Given the description of an element on the screen output the (x, y) to click on. 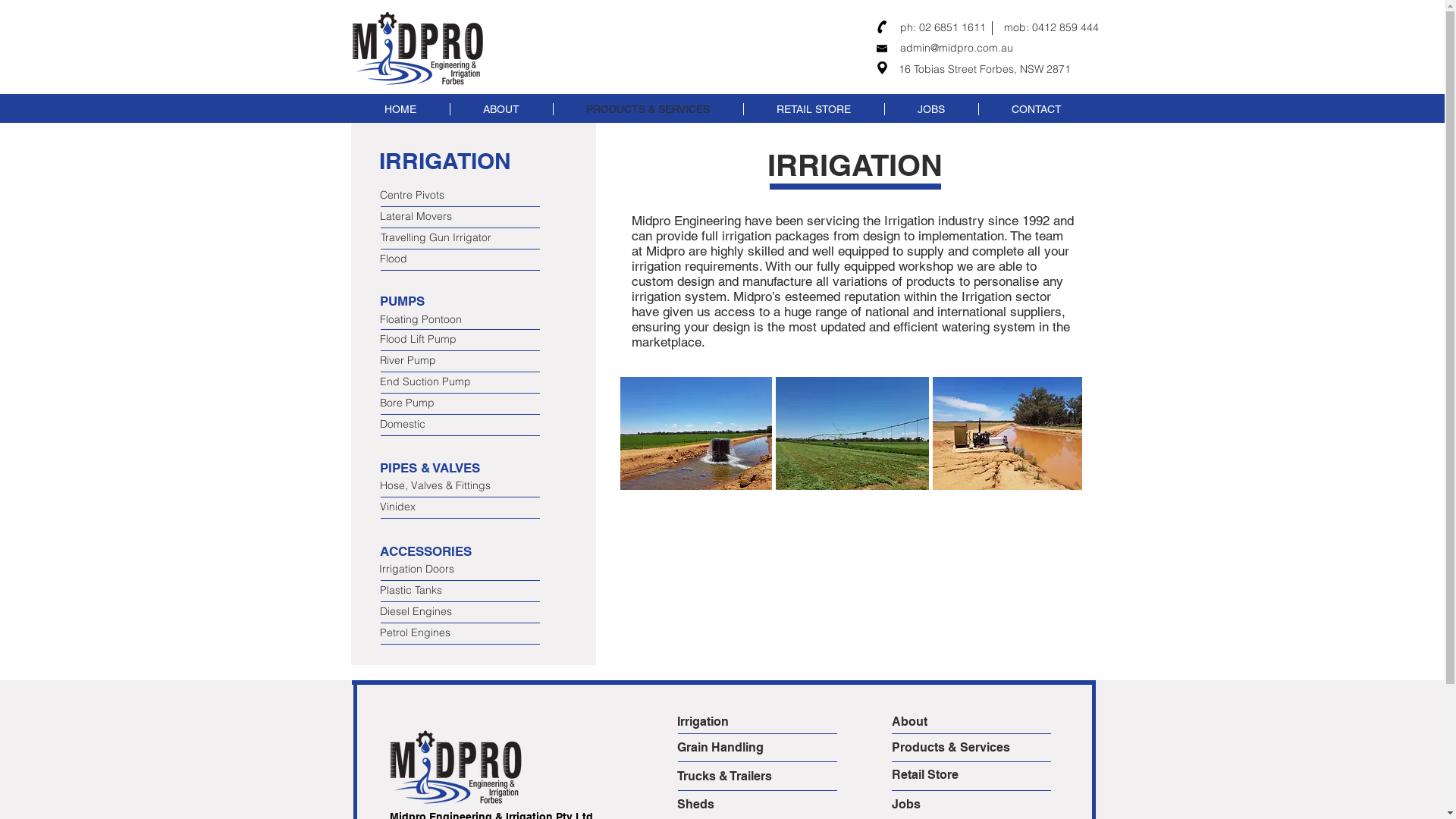
Plastic Tanks Element type: text (432, 590)
Diesel Engines Element type: text (415, 612)
Petrol Engines Element type: text (432, 633)
Flood Element type: text (432, 259)
Lateral Movers Element type: text (432, 216)
PRODUCTS & SERVICES Element type: text (647, 109)
River Pump Element type: text (407, 361)
HOME Element type: text (400, 109)
ABOUT Element type: text (500, 109)
About Element type: text (945, 722)
CONTACT Element type: text (1036, 109)
Grain Handling Element type: text (730, 747)
Trucks & Trailers Element type: text (730, 776)
Irrigation Element type: text (730, 722)
Products & Services Element type: text (950, 747)
Travelling Gun Irrigator Element type: text (435, 238)
Hose, Valves & Fittings Element type: text (434, 486)
IRRIGATION Element type: text (445, 160)
Retail Store Element type: text (945, 775)
admin@midpro.com.au Element type: text (955, 47)
Sheds Element type: text (730, 804)
Centre Pivots Element type: text (459, 195)
End Suction Pump Element type: text (432, 382)
Floating Pontoon Element type: text (432, 320)
Domestic Element type: text (432, 424)
Flood Lift Pump Element type: text (432, 339)
Vinidex Element type: text (432, 507)
JOBS Element type: text (931, 109)
Bore Pump Element type: text (432, 403)
RETAIL STORE Element type: text (813, 109)
Jobs Element type: text (945, 804)
Irrigation Doors Element type: text (416, 569)
